Given the description of an element on the screen output the (x, y) to click on. 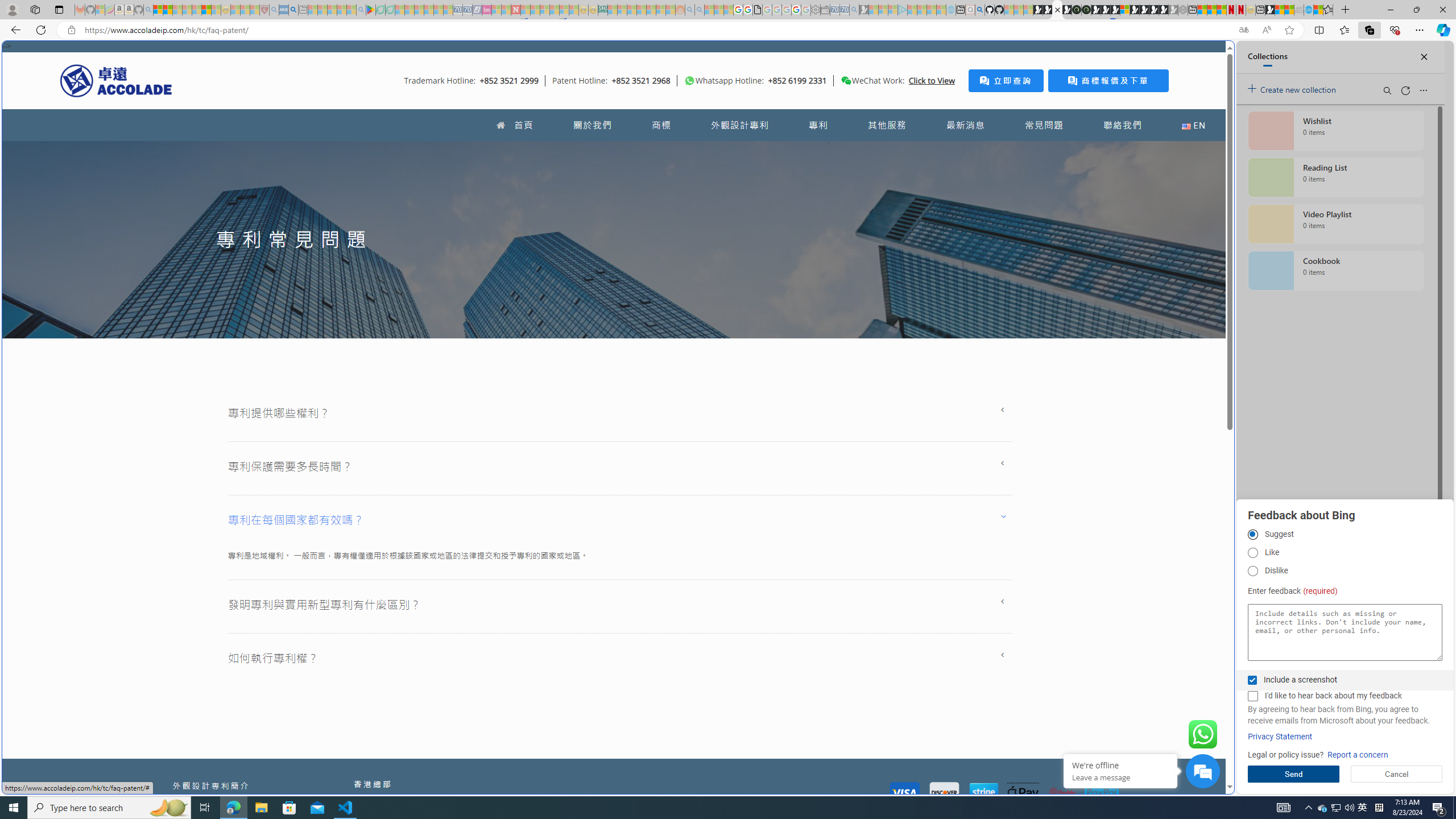
Close split screen (1208, 57)
Earth has six continents not seven, radical new study claims (1288, 9)
Frequently visited (965, 151)
Play Cave FRVR in your browser | Games from Microsoft Start (922, 242)
